Given the description of an element on the screen output the (x, y) to click on. 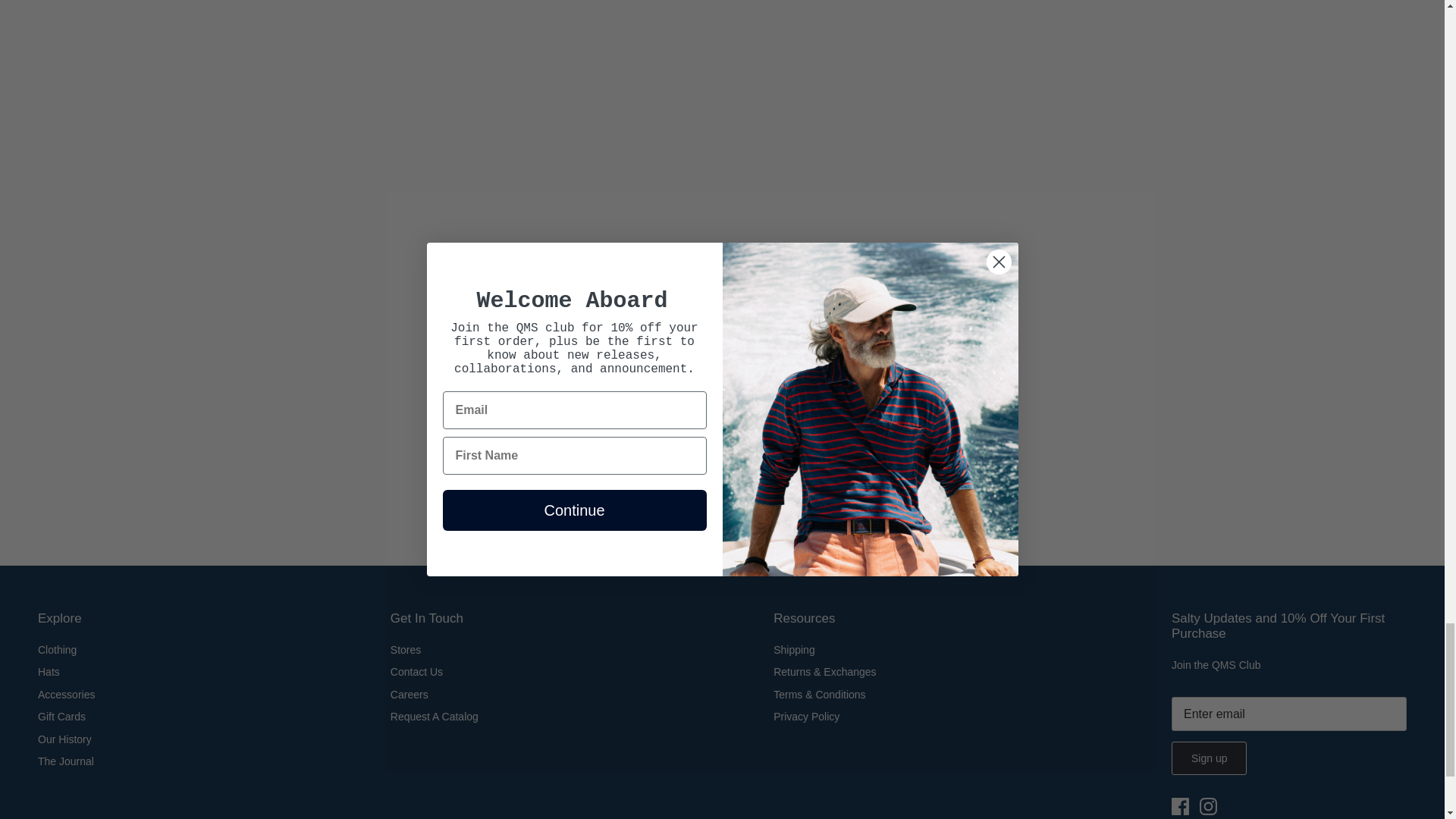
Facebook (1180, 805)
Instagram (1208, 805)
